Given the description of an element on the screen output the (x, y) to click on. 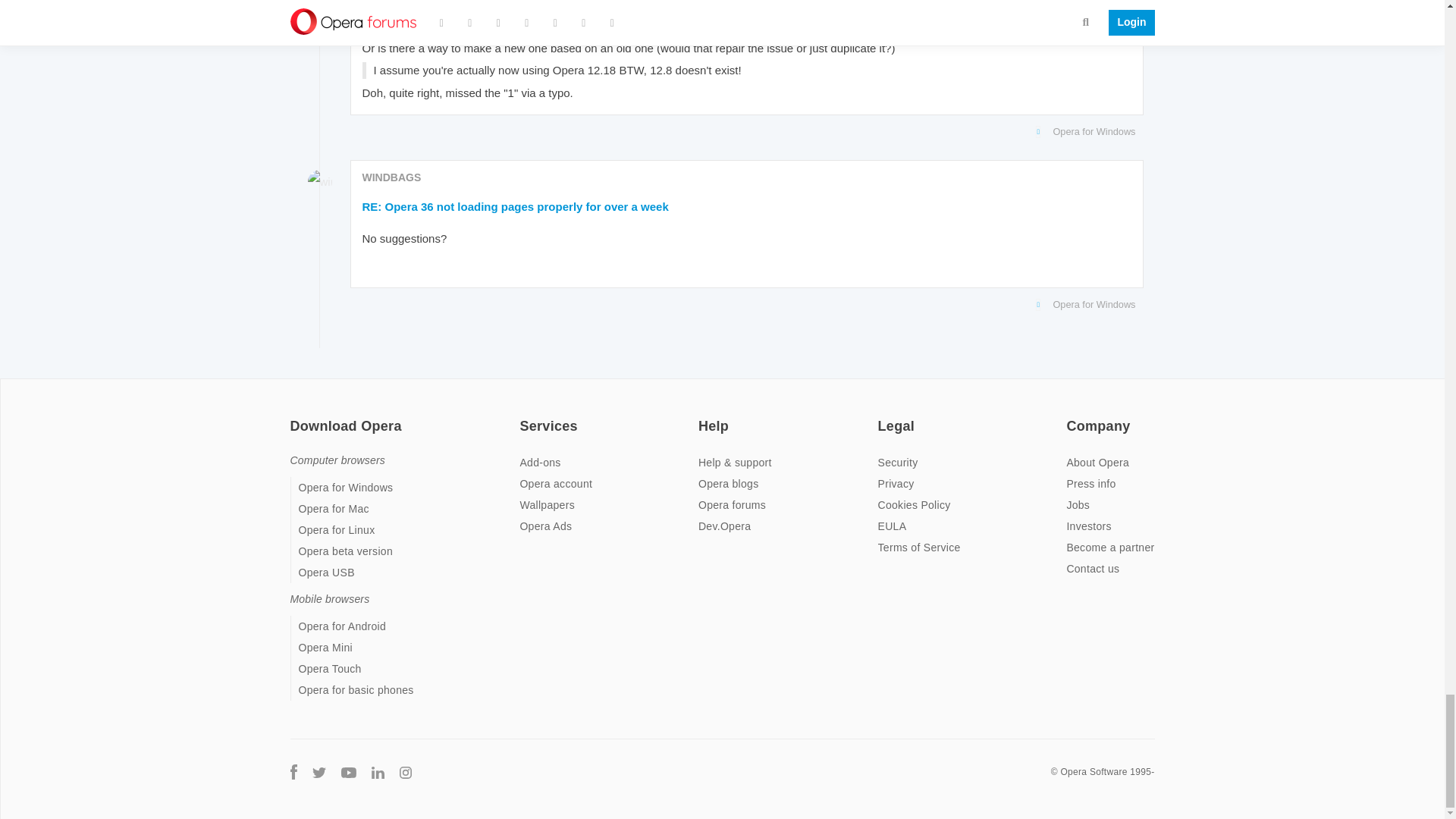
on (523, 415)
on (881, 415)
on (1070, 415)
on (702, 415)
on (293, 415)
